Given the description of an element on the screen output the (x, y) to click on. 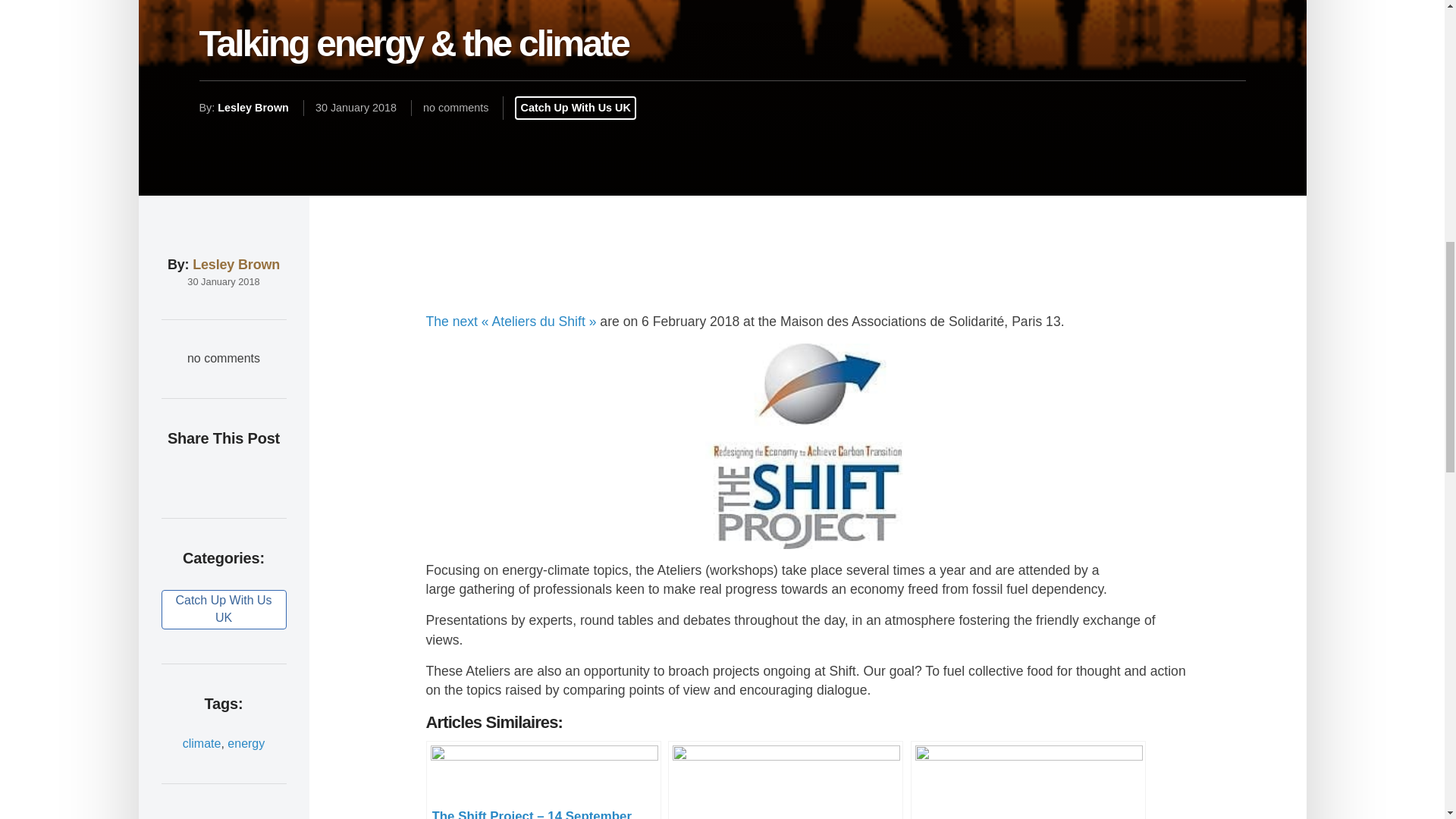
Catch Up With Us UK (222, 609)
climate (202, 743)
Catch Up With Us UK (574, 107)
Lesley Brown (235, 264)
energy (245, 743)
Lesley Brown (252, 107)
